Given the description of an element on the screen output the (x, y) to click on. 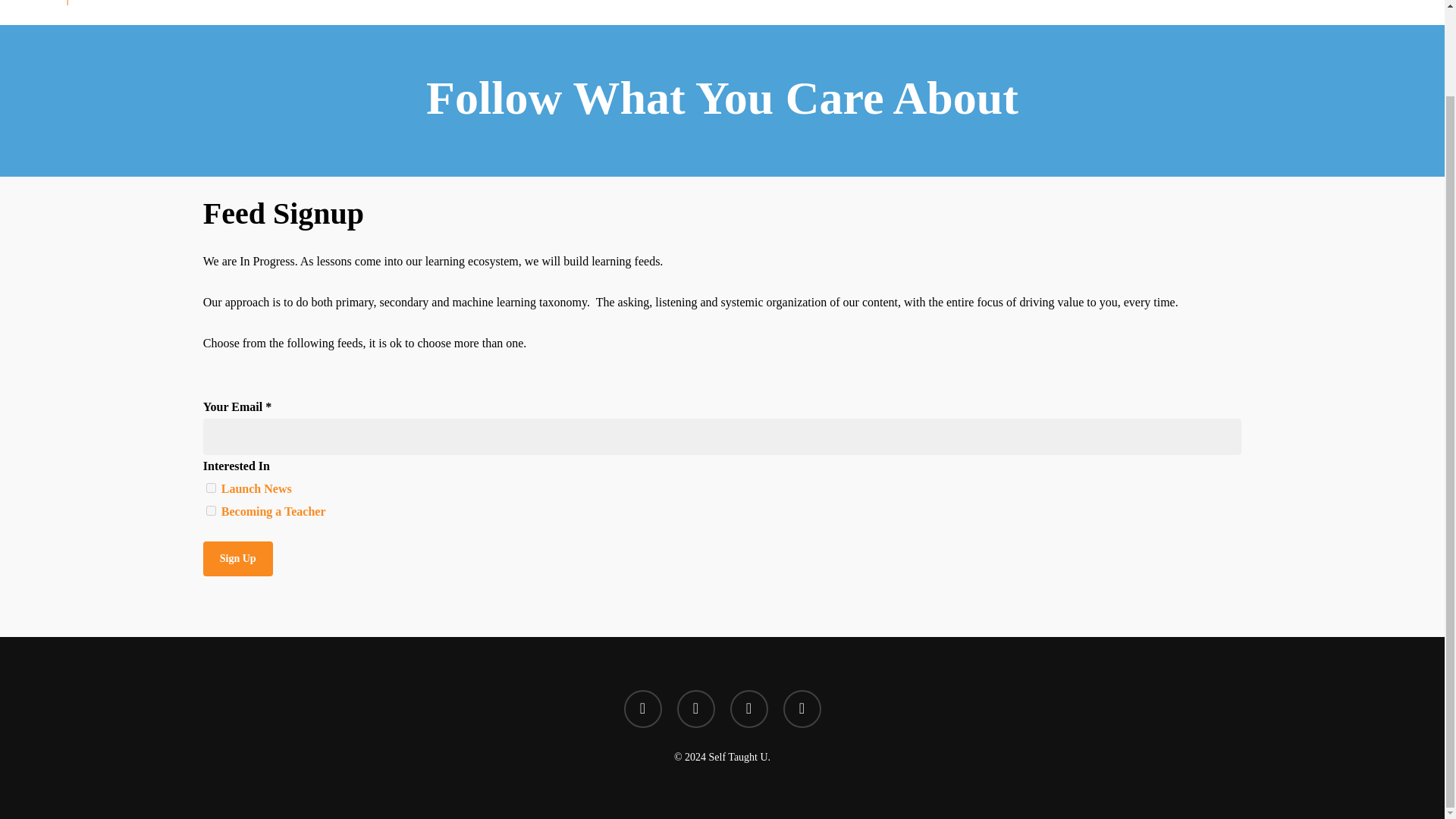
twitter (642, 610)
facebook (695, 610)
email (802, 610)
Sign up (238, 558)
ca7464a7bd (210, 488)
b1e08473a4 (210, 510)
instagram (748, 610)
Sign up (238, 558)
